Given the description of an element on the screen output the (x, y) to click on. 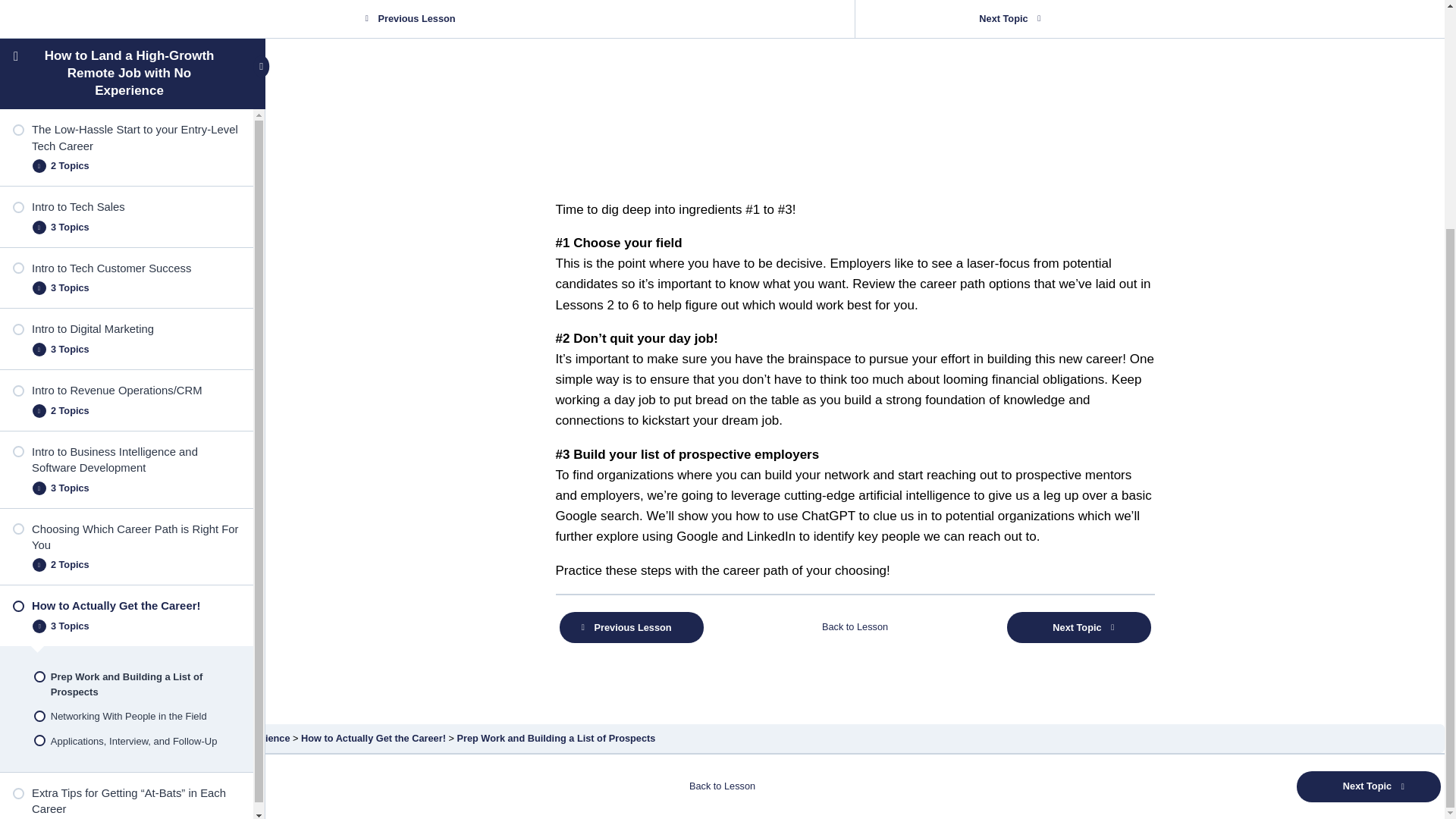
Back to Lesson (854, 626)
How to Actually Get the Career! (126, 298)
Prep Work and Building a List of Prospects (125, 375)
Previous Lesson (631, 626)
Choosing Which Career Path is Right For You (126, 229)
Intro to Digital Marketing (126, 21)
Applications, Interview, and Follow-Up (125, 432)
Next Topic (1079, 626)
Intro to Business Intelligence and Software Development (126, 152)
Networking With People in the Field (125, 408)
